Given the description of an element on the screen output the (x, y) to click on. 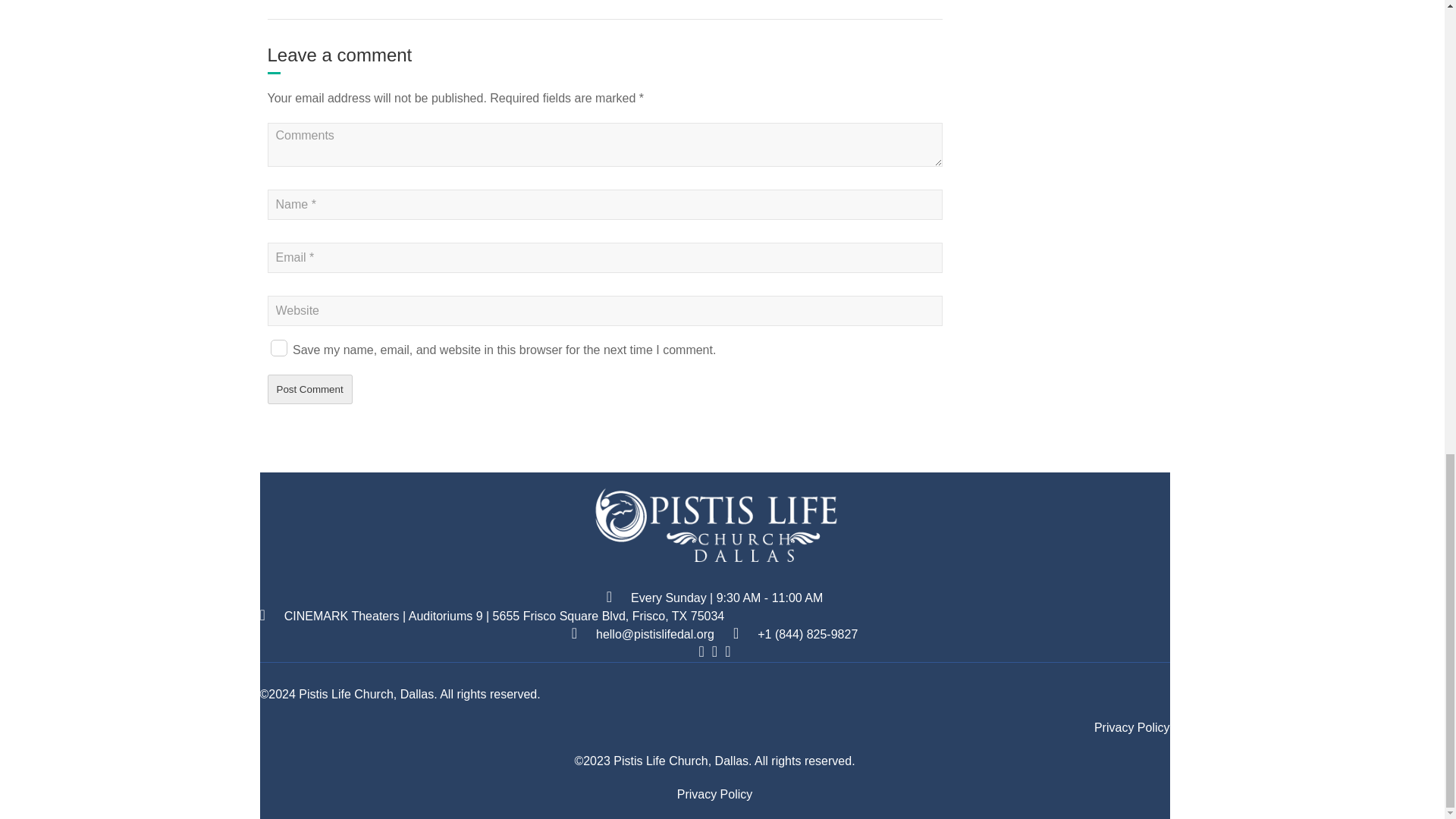
Post Comment (309, 389)
Privacy Policy (714, 793)
Privacy Policy (1132, 727)
yes (277, 347)
Direction (503, 615)
Post Comment (309, 389)
